Given the description of an element on the screen output the (x, y) to click on. 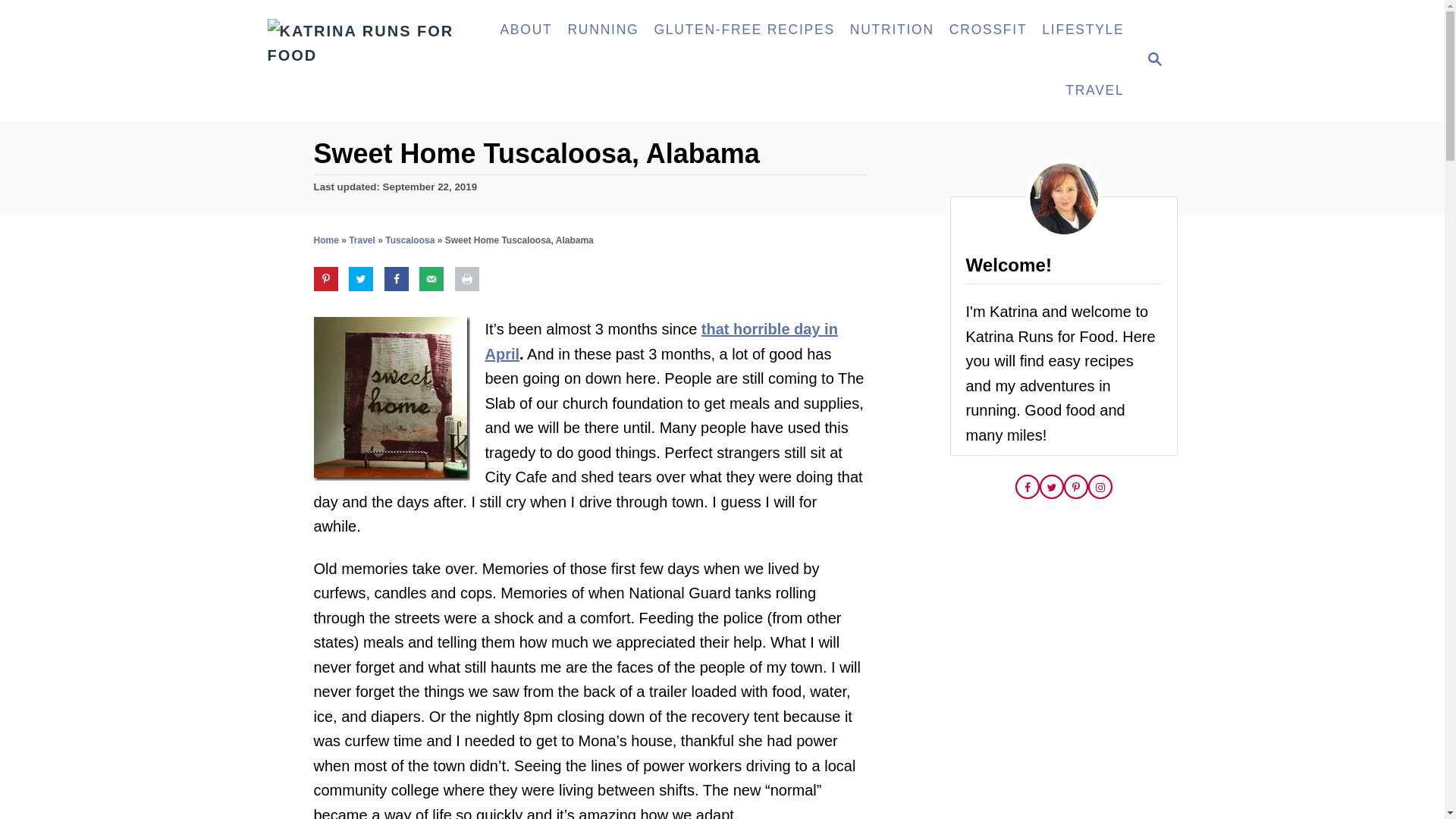
Travel (362, 240)
Send over email (431, 278)
CROSSFIT (987, 29)
NUTRITION (892, 29)
SEARCH (1153, 60)
LIFESTYLE (1082, 29)
Katrina Runs for Food (371, 60)
Print this webpage (466, 278)
Save to Pinterest (325, 278)
GLUTEN-FREE RECIPES (743, 29)
